Given the description of an element on the screen output the (x, y) to click on. 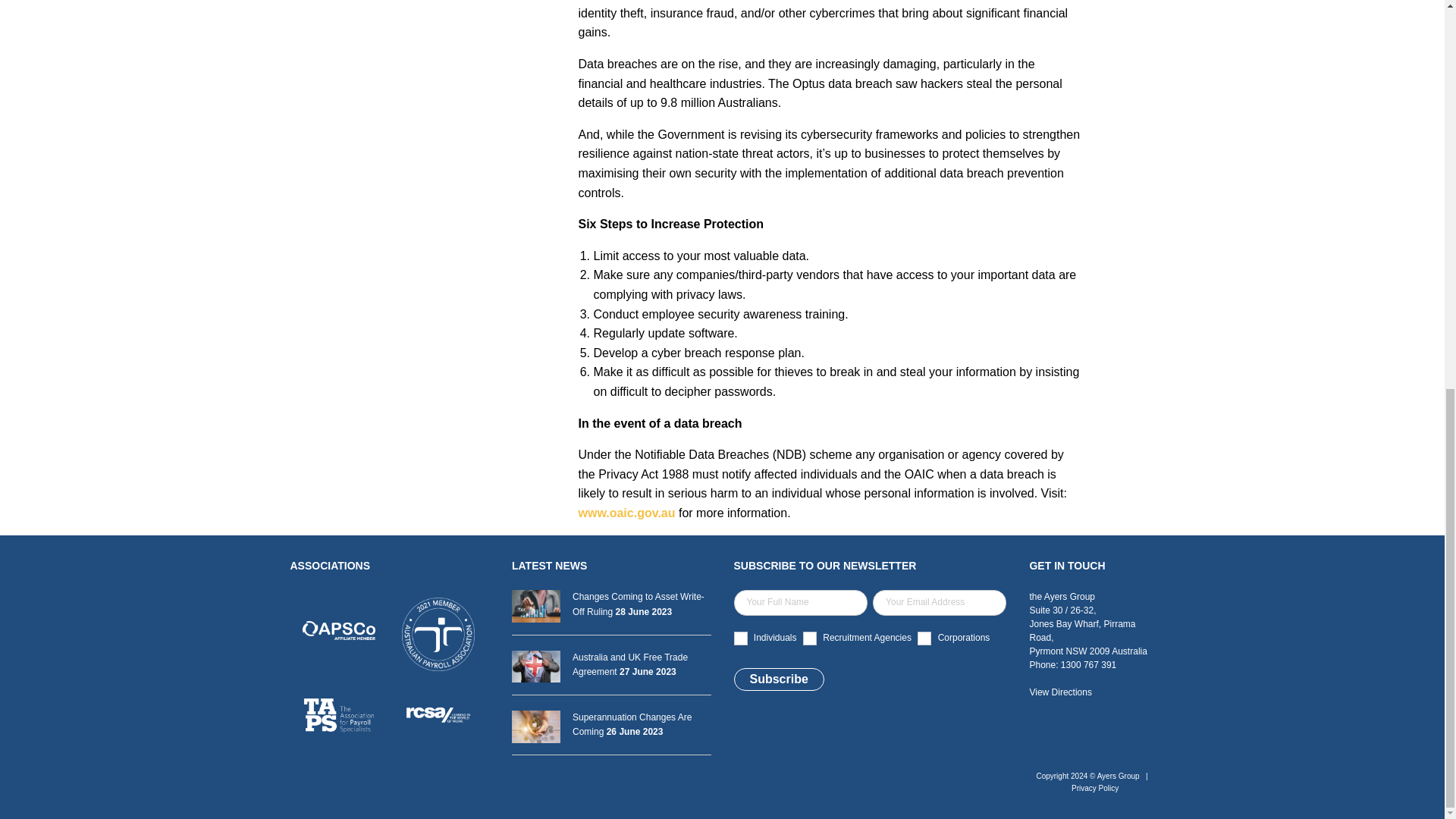
Australia and UK Free Trade Agreement (611, 664)
Corporations (924, 638)
Individuals (740, 638)
Recruitment Agencies (809, 638)
Changes Coming to Asset Write-Off Ruling (611, 604)
Superannuation Changes Are Coming (611, 724)
